Given the description of an element on the screen output the (x, y) to click on. 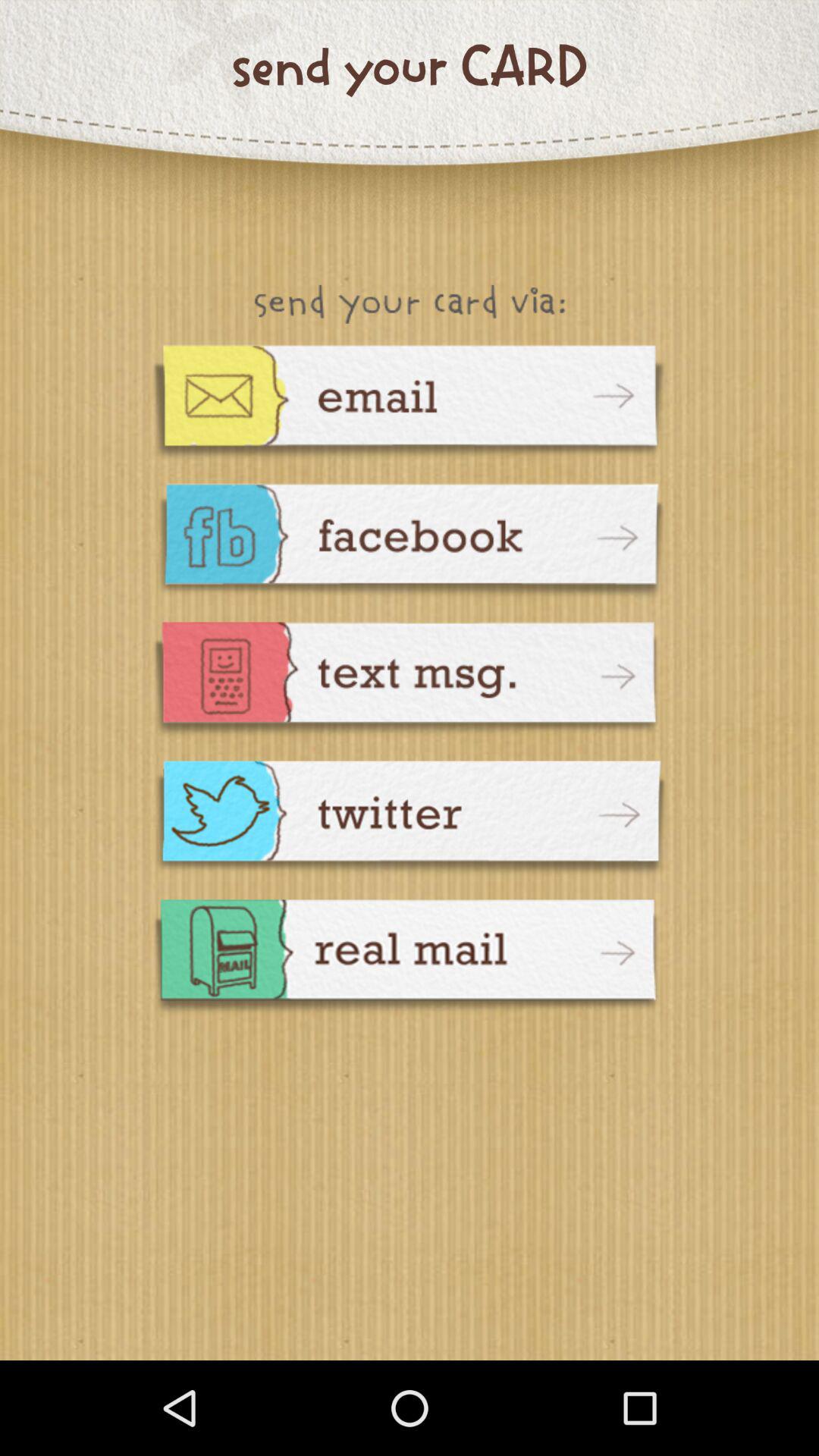
select the messenger (409, 819)
